Given the description of an element on the screen output the (x, y) to click on. 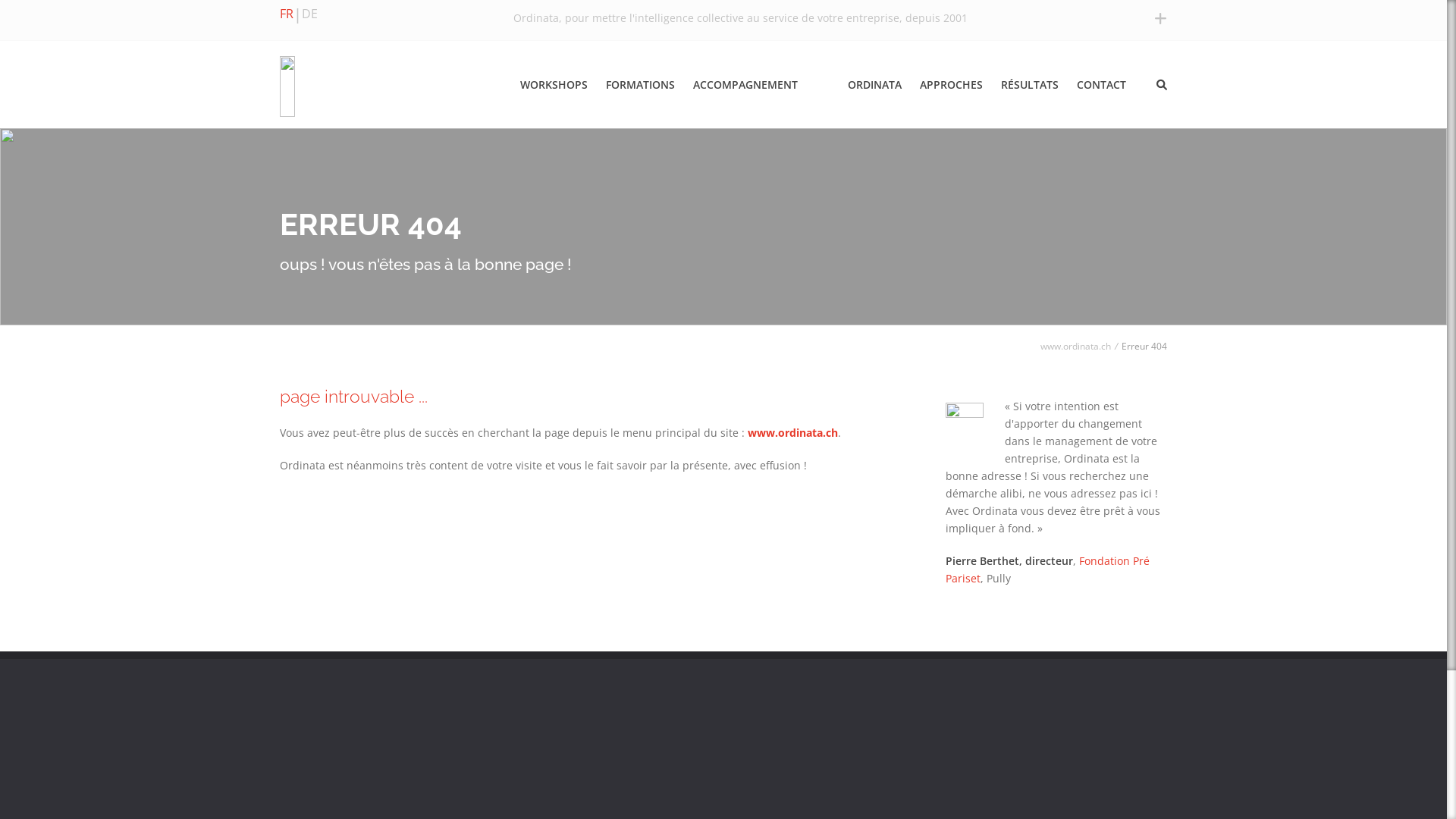
www.ordinata.ch Element type: text (1075, 345)
DE Element type: text (309, 13)
APPROCHES Element type: text (953, 84)
CONTACT Element type: text (1104, 84)
FR Element type: text (286, 13)
FORMATIONS Element type: text (643, 84)
WORKSHOPS Element type: text (559, 84)
ACCOMPAGNEMENT Element type: text (748, 84)
ORDINATA Element type: text (880, 84)
www.ordinata.ch Element type: text (792, 432)
